Given the description of an element on the screen output the (x, y) to click on. 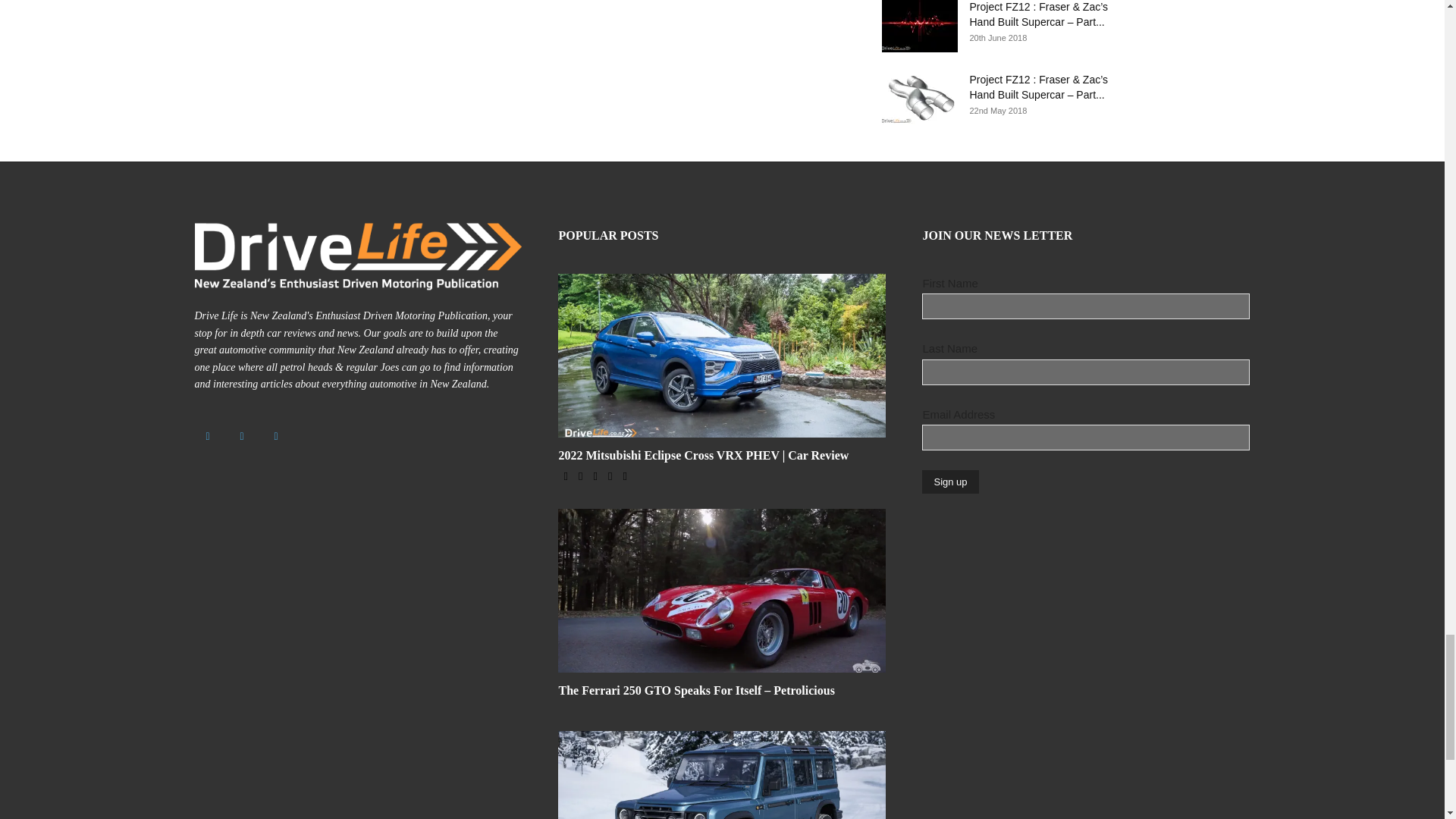
Sign up (949, 481)
